Given the description of an element on the screen output the (x, y) to click on. 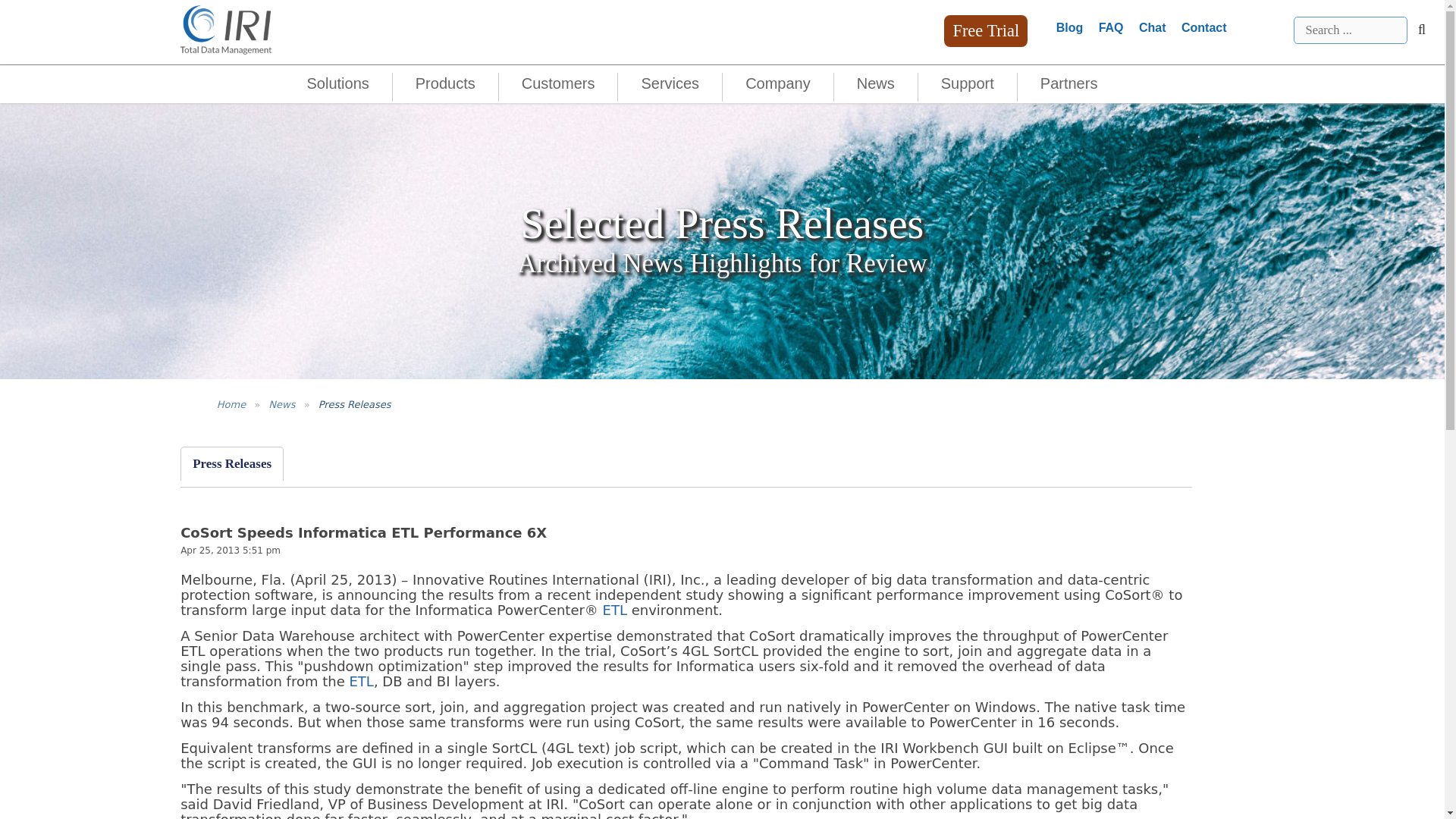
Blog (1070, 27)
Chat (1152, 27)
FAQ (1111, 27)
Free Trial (985, 30)
Contact (1203, 27)
